Given the description of an element on the screen output the (x, y) to click on. 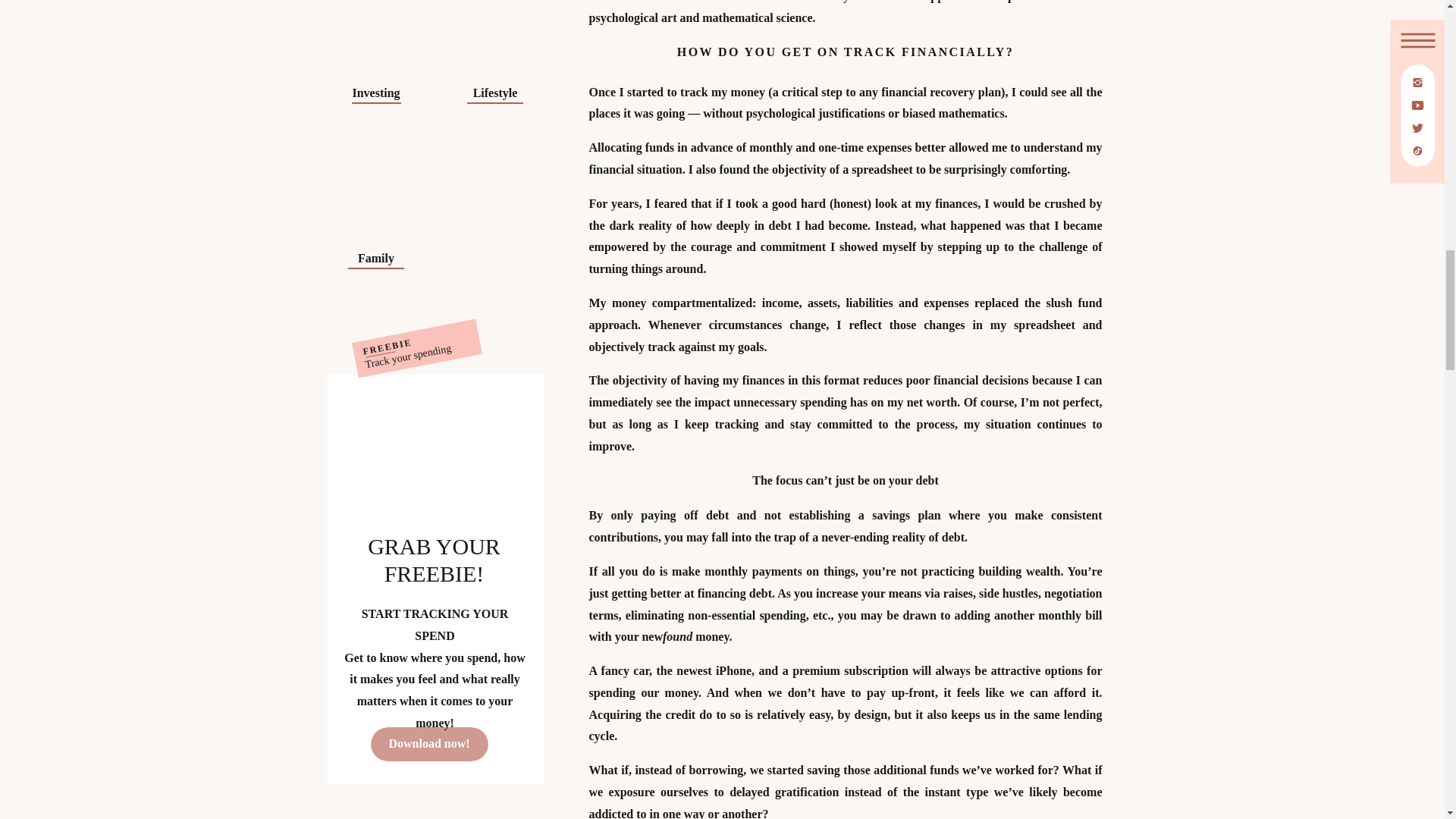
Investing (375, 89)
Download now! (428, 743)
FREEBIE (403, 331)
Lifestyle (495, 89)
